Given the description of an element on the screen output the (x, y) to click on. 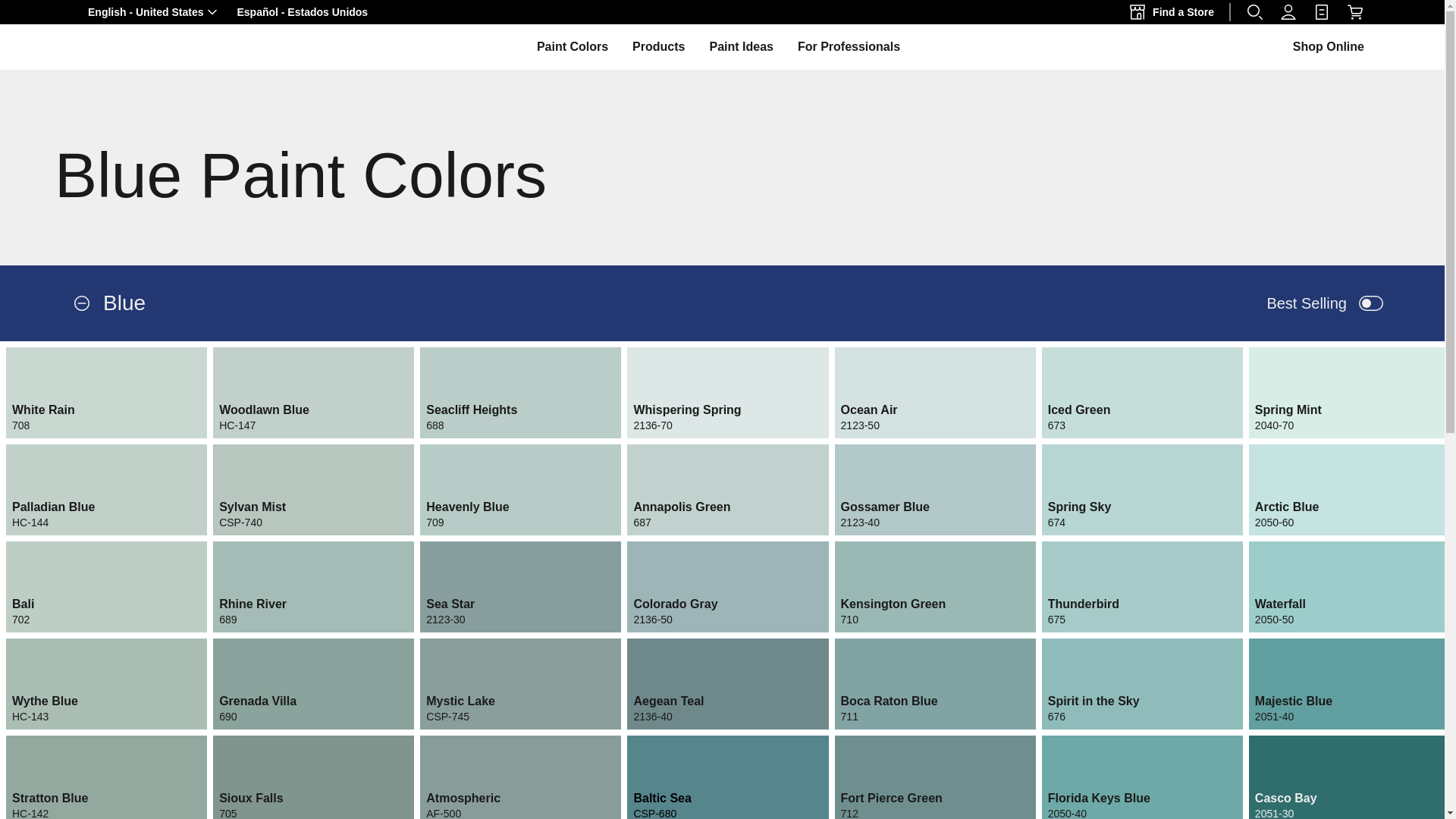
Find a Store (1174, 12)
Paint Colors (572, 46)
English - United States (154, 12)
